Given the description of an element on the screen output the (x, y) to click on. 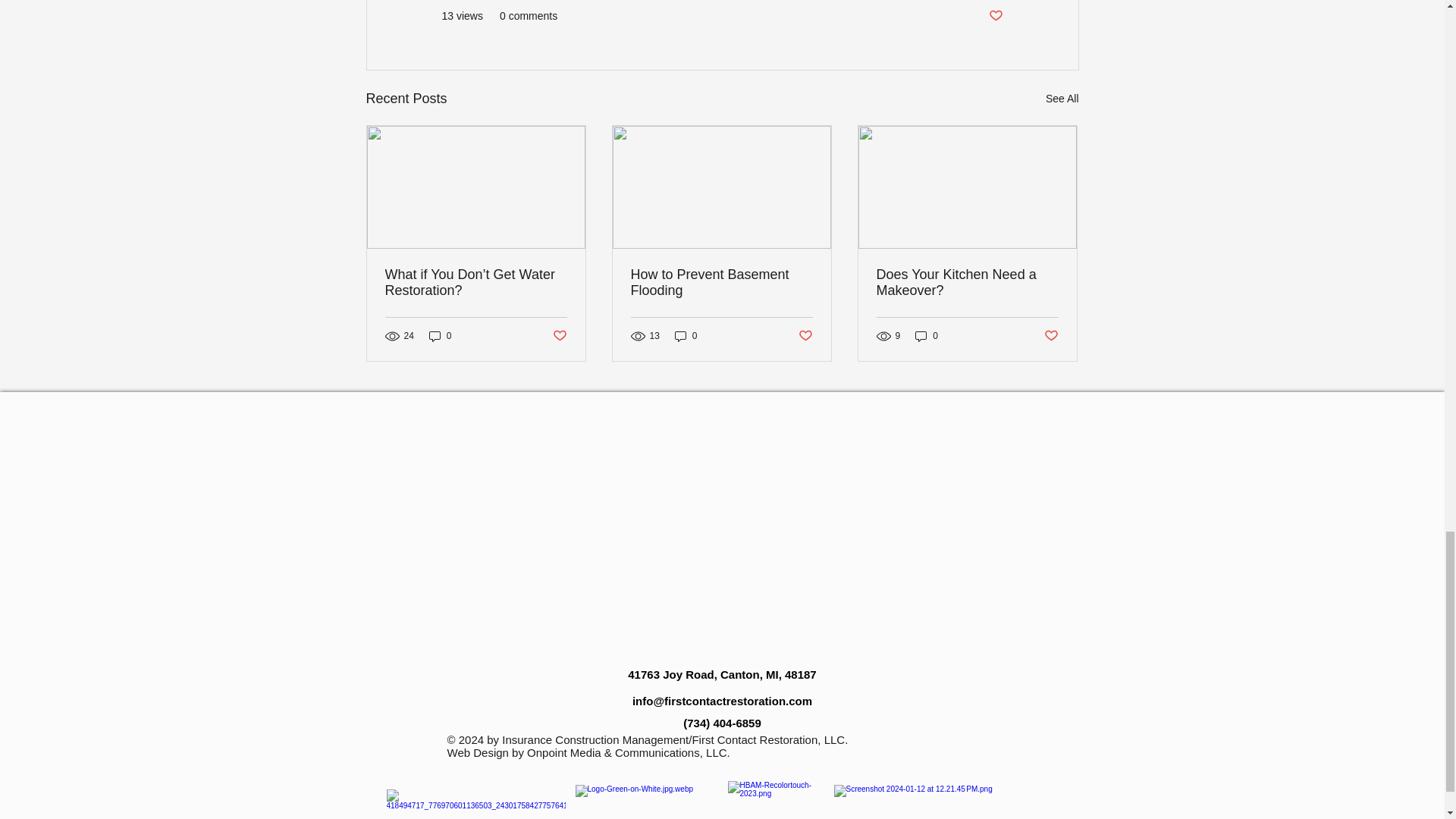
0 (926, 336)
0 (685, 336)
Post not marked as liked (804, 335)
Post not marked as liked (995, 16)
Post not marked as liked (558, 335)
Post not marked as liked (1050, 335)
0 (440, 336)
See All (1061, 98)
Does Your Kitchen Need a Makeover? (967, 282)
How to Prevent Basement Flooding (721, 282)
